Given the description of an element on the screen output the (x, y) to click on. 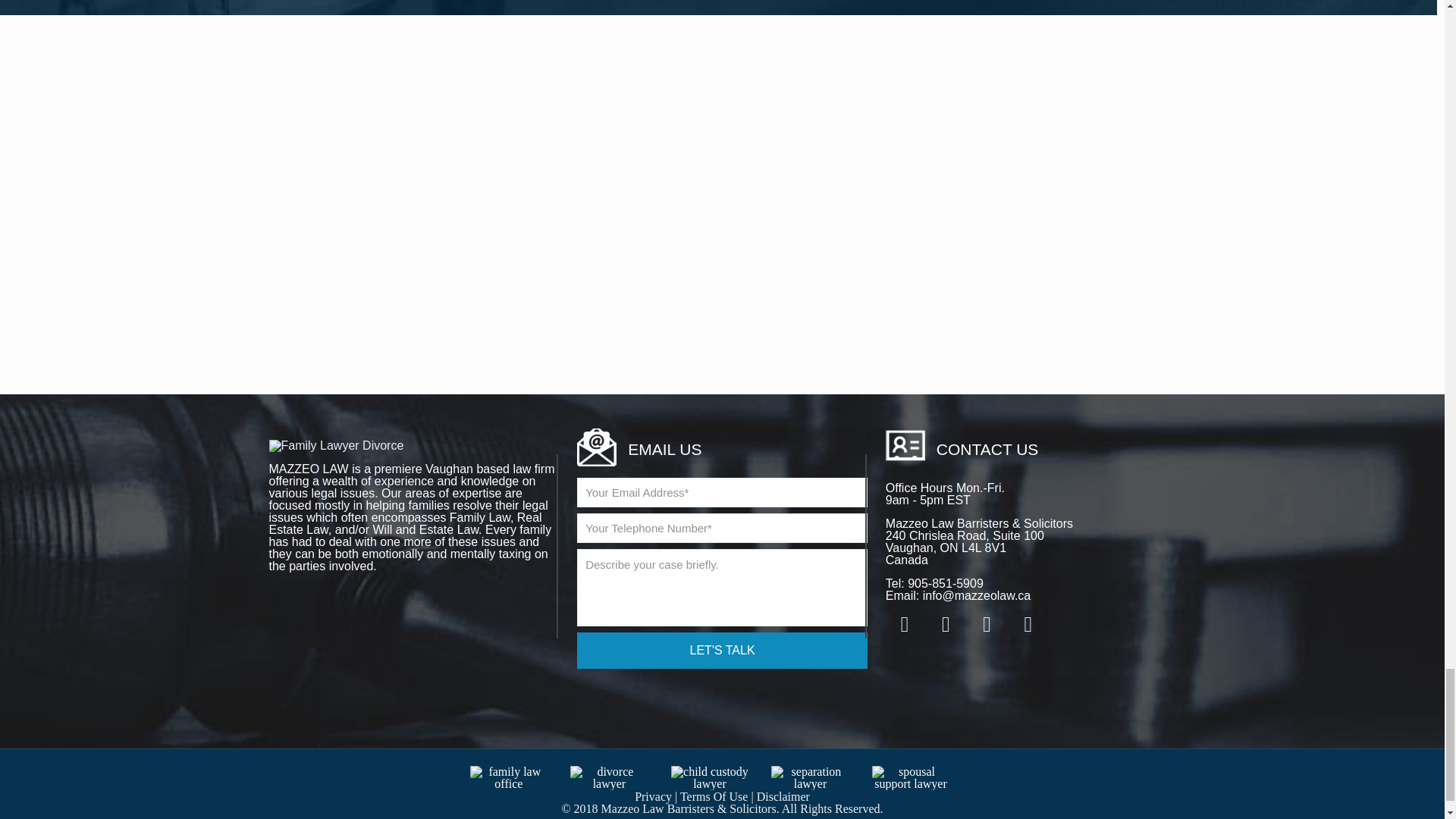
separation lawyer vaughan (809, 777)
family lawyer vaughan (509, 777)
LET'S TALK (721, 650)
child custody lawyer vaughan (710, 777)
Facebook (904, 626)
divorce lawyer vaughan (608, 777)
spousal support lawyer vaughan (911, 777)
